Given the description of an element on the screen output the (x, y) to click on. 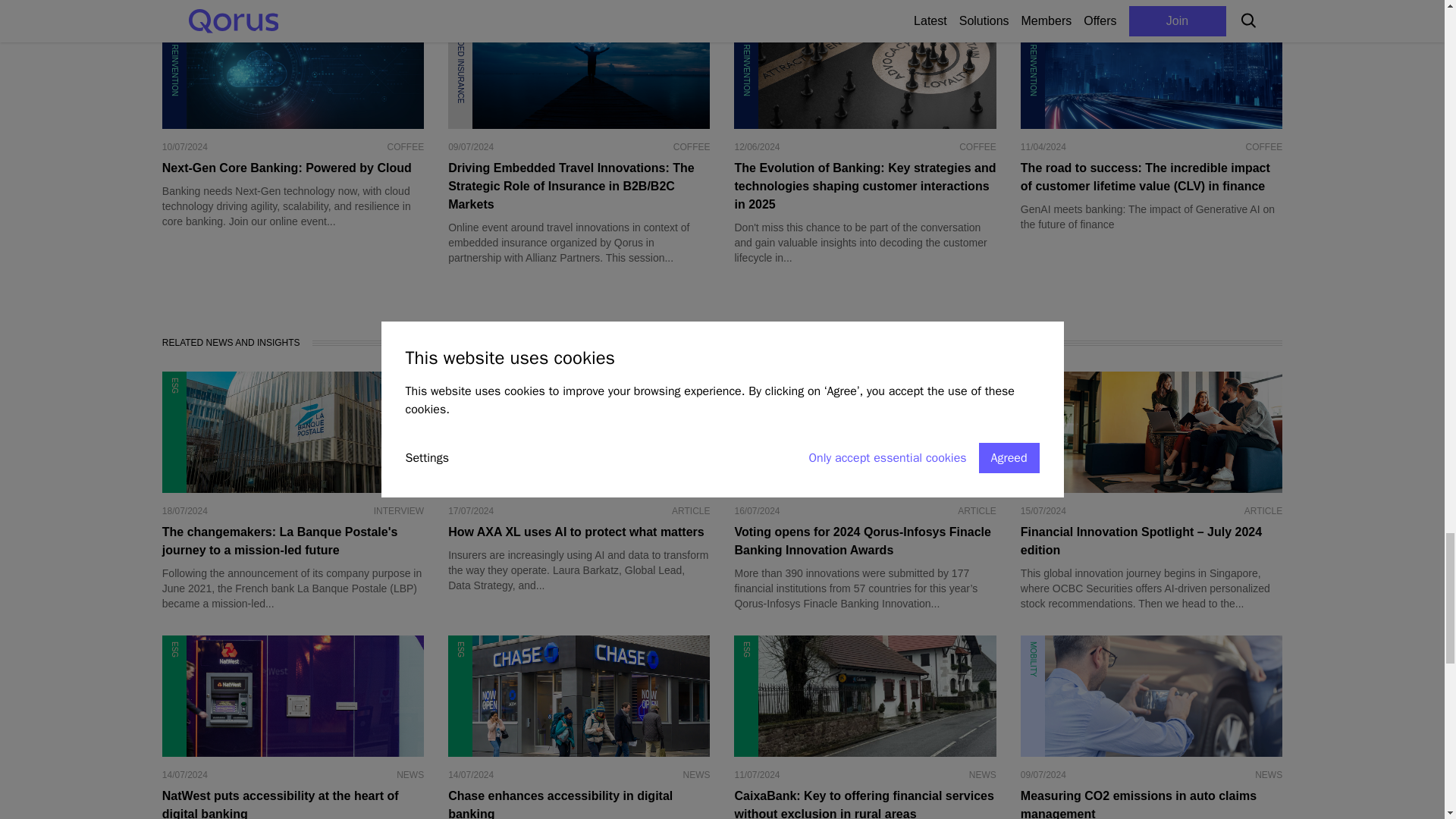
Next-Gen Core Banking: Powered by Cloud (292, 167)
